Given the description of an element on the screen output the (x, y) to click on. 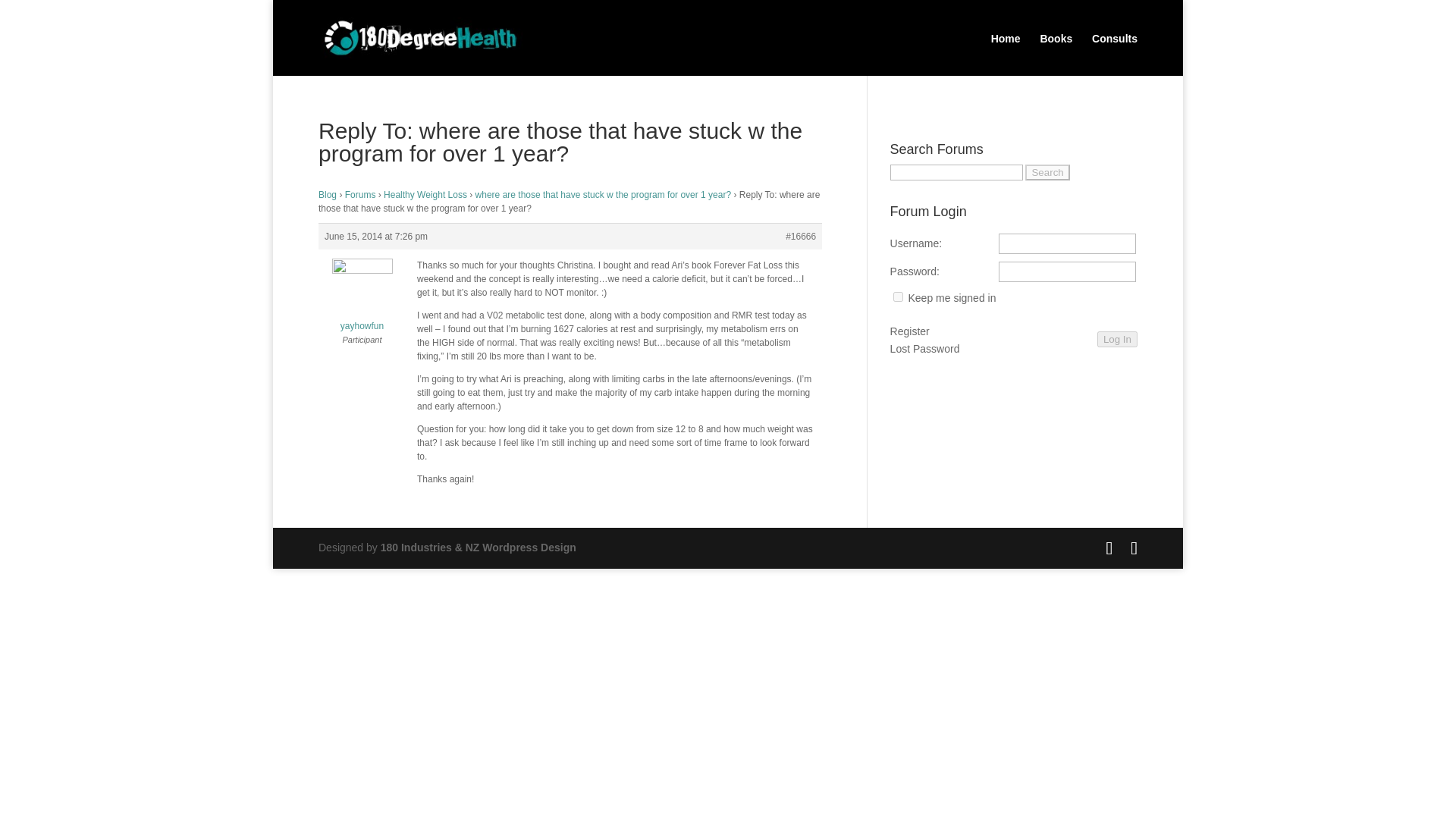
Books (1055, 49)
forever (897, 296)
Lost Password (924, 349)
Consults (1114, 49)
View yayhowfun's profile (362, 298)
Healthy Weight Loss (425, 194)
Home (1005, 49)
Search (1046, 172)
Blog (327, 194)
NZ Wordpress Design (478, 547)
Forums (360, 194)
Lost Password (924, 349)
yayhowfun (362, 298)
Log In (1117, 339)
